Given the description of an element on the screen output the (x, y) to click on. 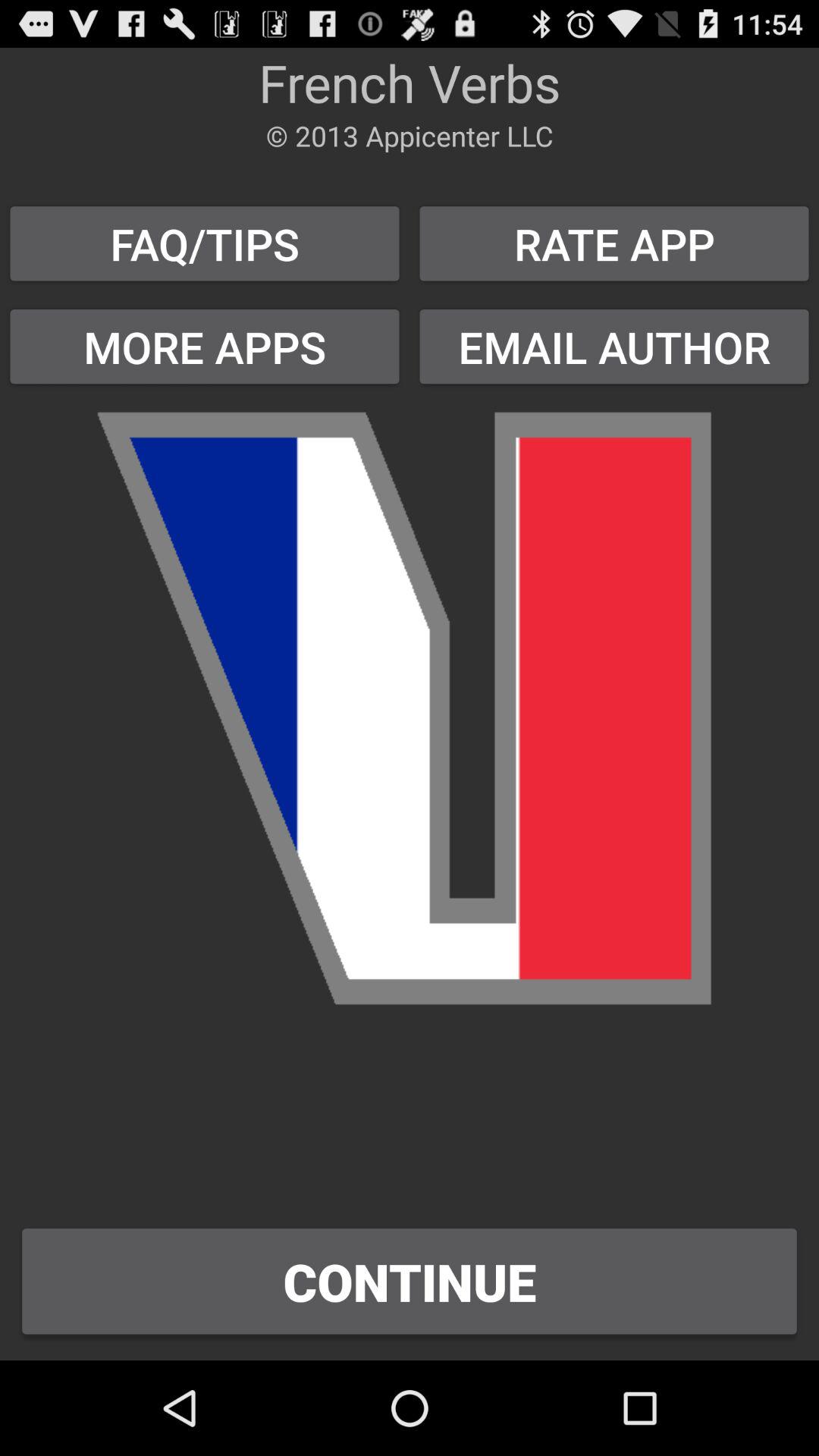
open icon at the bottom (409, 1281)
